Given the description of an element on the screen output the (x, y) to click on. 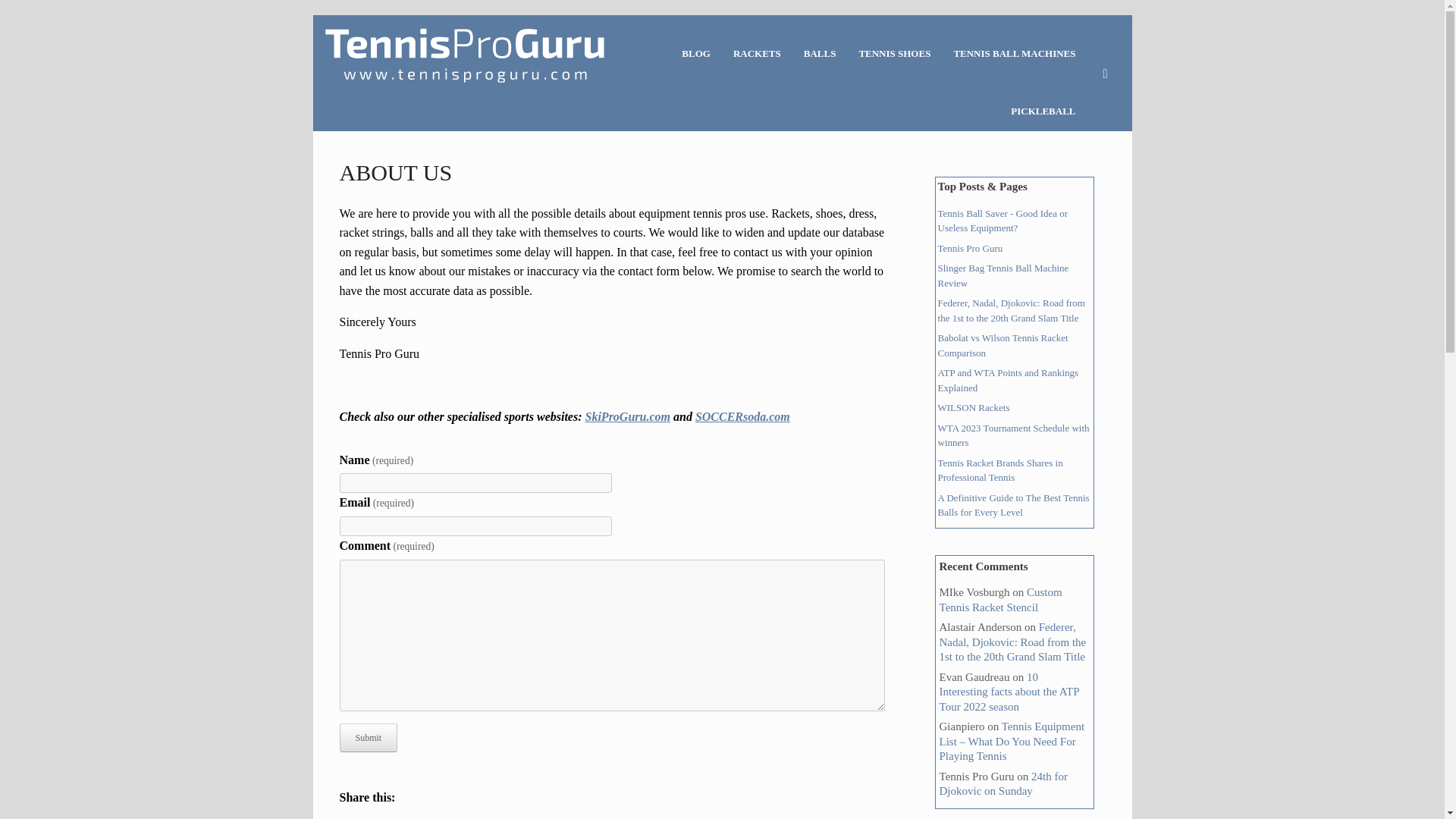
A Definitive Guide to The Best Tennis Balls for Every Level (1013, 504)
TENNIS BALL MACHINES (1014, 53)
24th for Djokovic on Sunday (1003, 783)
WILSON Rackets (973, 407)
RACKETS (757, 53)
Slinger Bag Tennis Ball Machine Review (1002, 275)
10 Interesting facts about the ATP Tour 2022 season (1008, 690)
Babolat vs Wilson Tennis Racket Comparison (1002, 345)
SkiProGuru.com (627, 416)
BALLS (819, 53)
PICKLEBALL (1042, 110)
SOCCERsoda.com (742, 416)
Tennis Racket Brands Shares in Professional Tennis (999, 469)
Submit (368, 737)
